Given the description of an element on the screen output the (x, y) to click on. 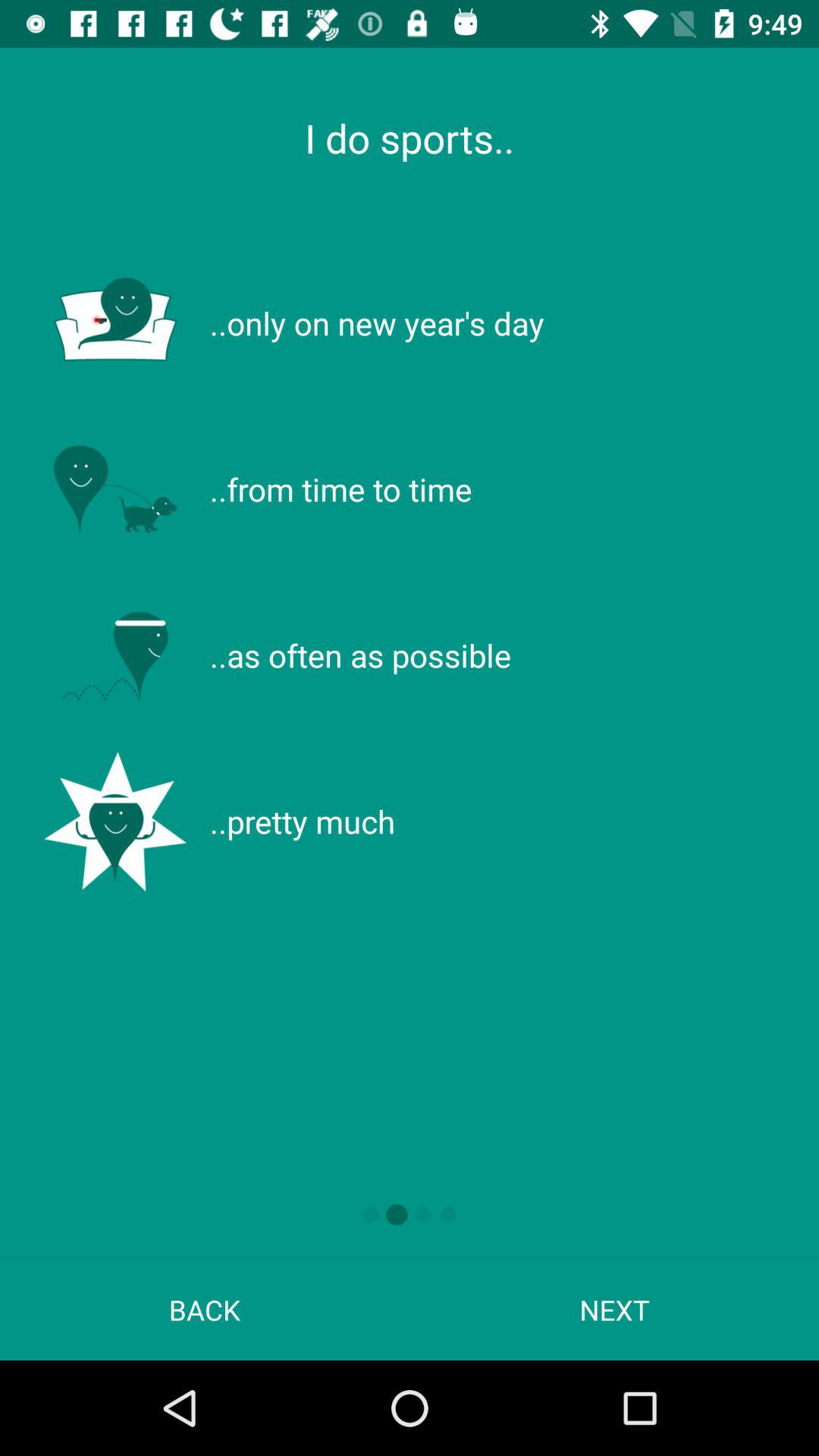
flip until back (204, 1309)
